Given the description of an element on the screen output the (x, y) to click on. 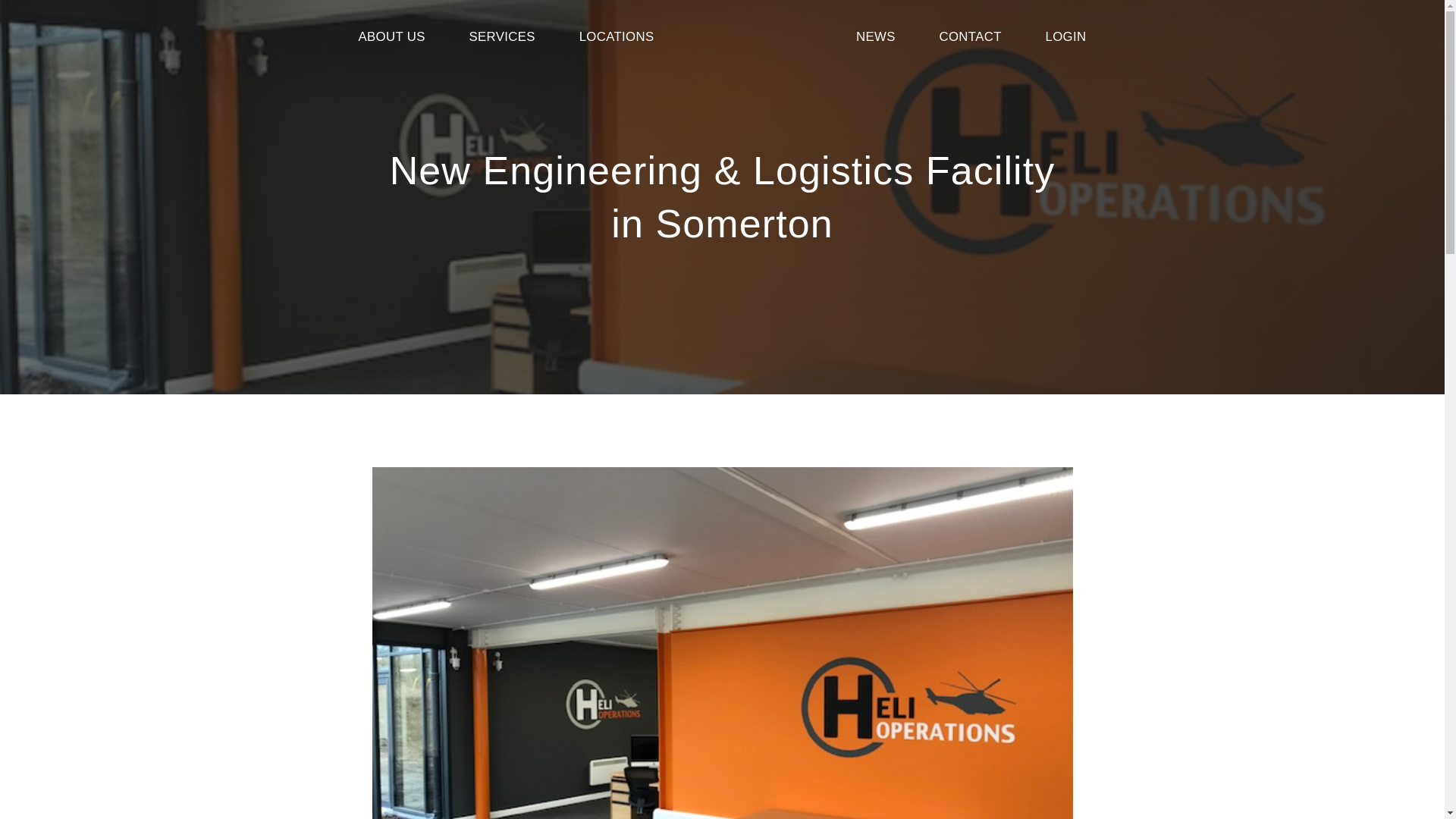
SERVICES (501, 36)
CONTACT (970, 36)
LOGIN (1065, 36)
LOCATIONS (616, 36)
ABOUT US (391, 36)
NEWS (875, 36)
HOME (754, 36)
